Given the description of an element on the screen output the (x, y) to click on. 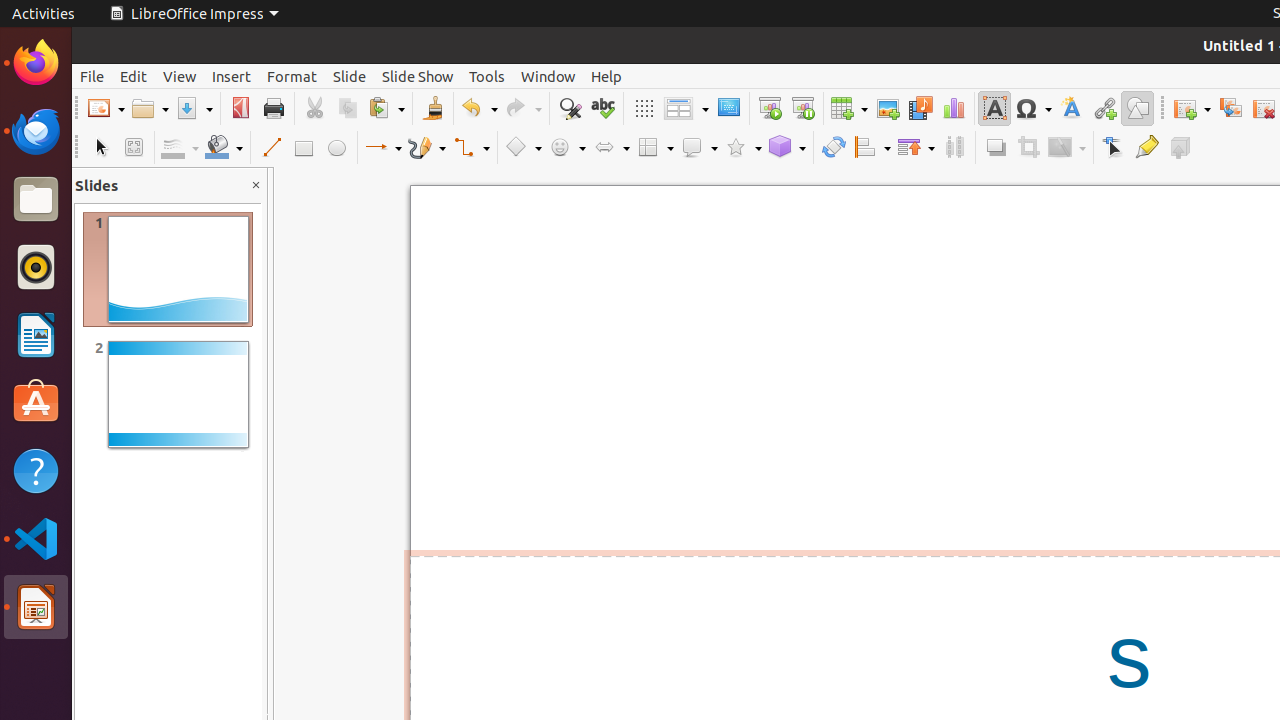
Slide Show Element type: menu (417, 76)
Fontwork Style Element type: toggle-button (1071, 108)
Text Box Element type: push-button (994, 108)
Display Views Element type: push-button (686, 109)
View Element type: menu (179, 76)
